Given the description of an element on the screen output the (x, y) to click on. 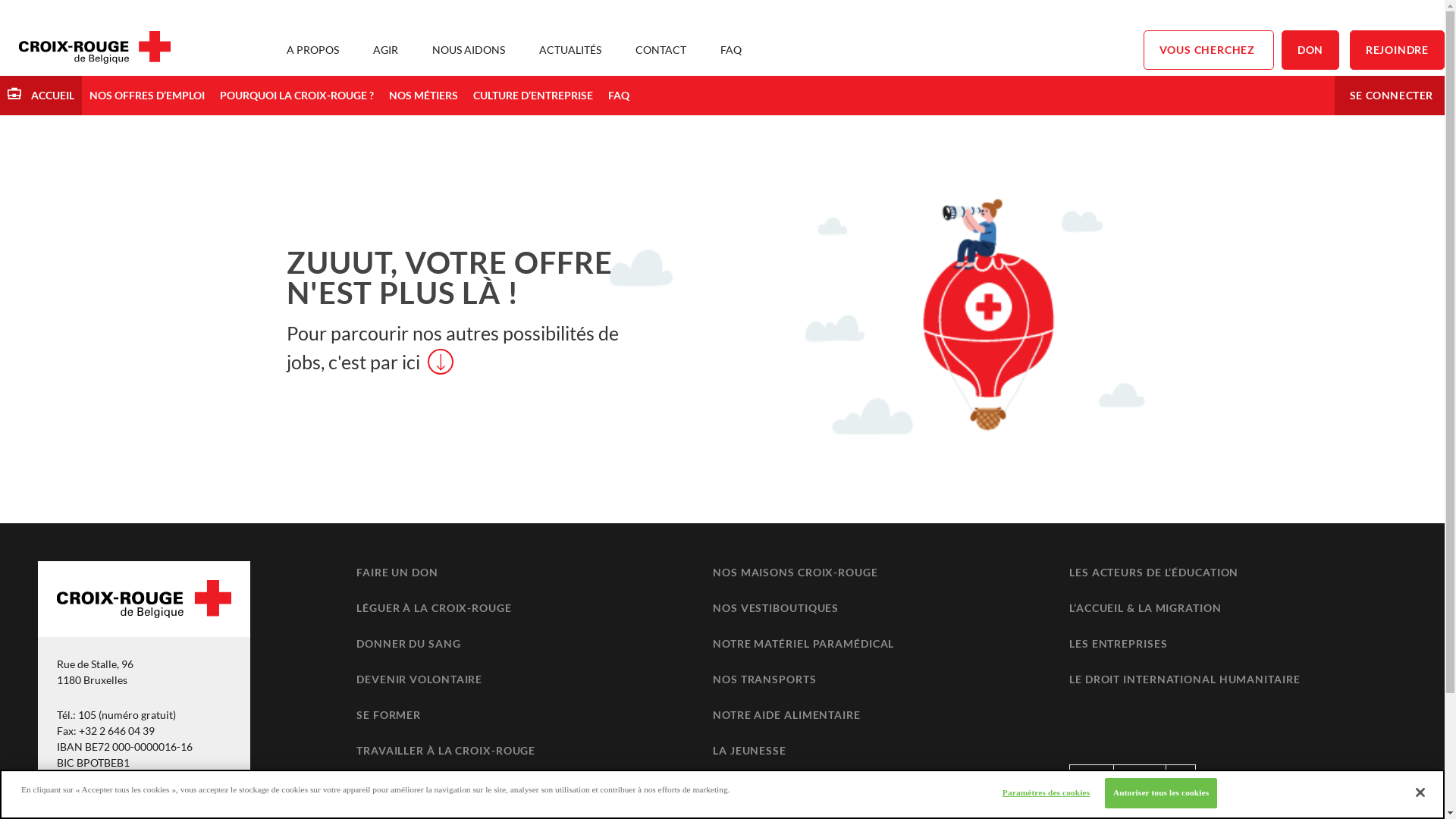
AGIR Element type: text (385, 49)
VOUS CHERCHEZ Element type: text (1208, 49)
NOTRE AIDE ALIMENTAIRE Element type: text (786, 714)
FAQ Element type: text (730, 49)
FAIRE UN DON Element type: text (397, 571)
LE DROIT INTERNATIONAL HUMANITAIRE Element type: text (1184, 678)
LA JEUNESSE Element type: text (749, 749)
LES ENTREPRISES Element type: text (1118, 643)
Accueil Element type: text (1091, 777)
NOS TRANSPORTS Element type: text (764, 678)
SE CONNECTER Element type: text (1391, 95)
POURQUOI LA CROIX-ROUGE ? Element type: text (296, 95)
A Propos Element type: text (1139, 777)
Autoriser tous les cookies Element type: text (1160, 793)
DEVENIR VOLONTAIRE Element type: text (419, 678)
REJOINDRE Element type: text (1396, 49)
ACCUEIL Element type: text (40, 95)
RETROUVER UN PROCHE Element type: text (425, 785)
NOS VESTIBOUTIQUES Element type: text (775, 607)
CONTACT Element type: text (660, 49)
FAQ Element type: text (1180, 777)
NOS MAISONS CROIX-ROUGE Element type: text (795, 571)
A PROPOS Element type: text (312, 49)
SE FORMER Element type: text (388, 714)
DON Element type: text (1310, 49)
FAQ Element type: text (618, 95)
NOUS AIDONS Element type: text (468, 49)
DONNER DU SANG Element type: text (408, 643)
